Given the description of an element on the screen output the (x, y) to click on. 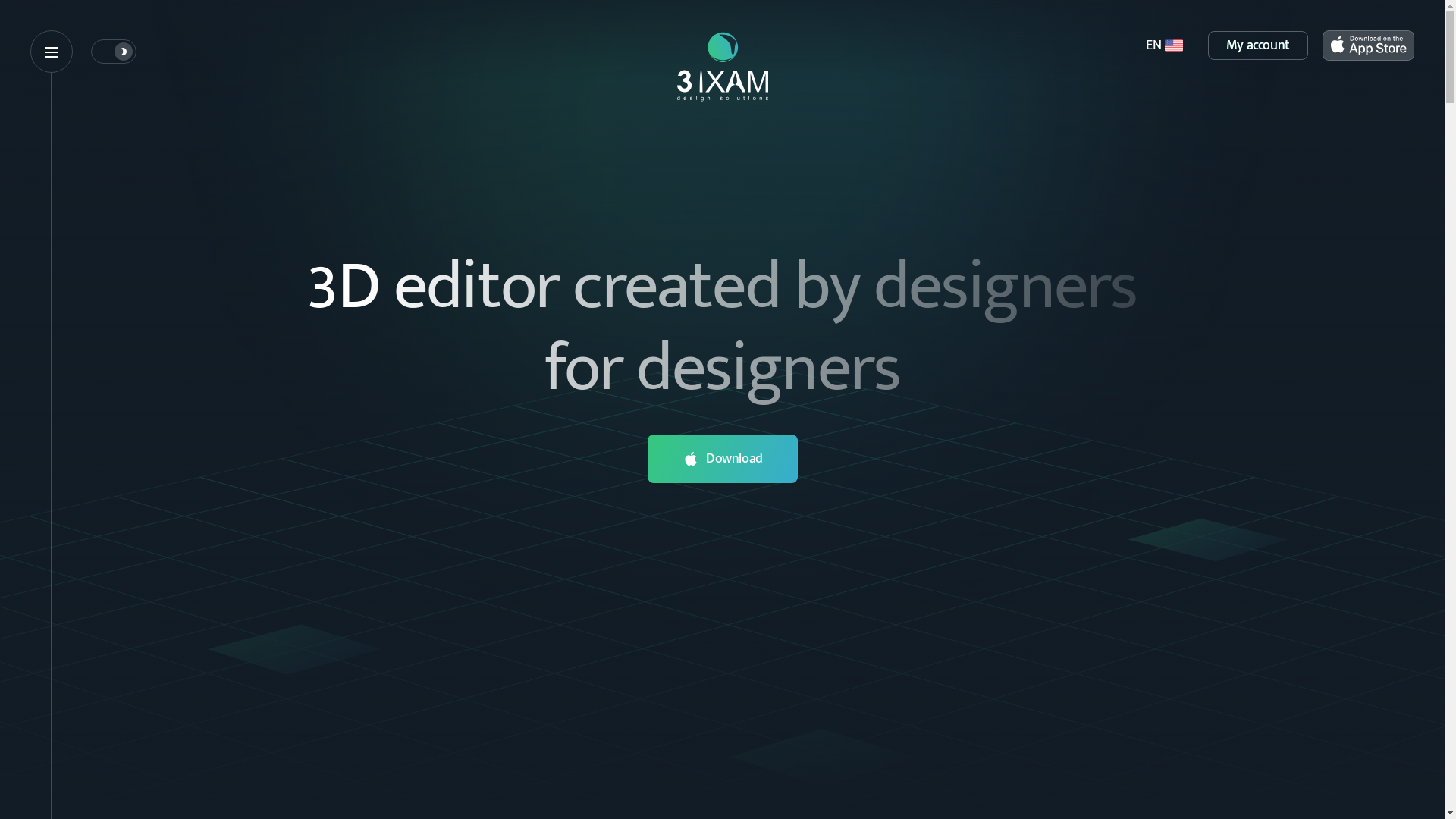
Download Element type: text (721, 458)
EN Element type: text (1163, 45)
My account Element type: text (1257, 45)
